Given the description of an element on the screen output the (x, y) to click on. 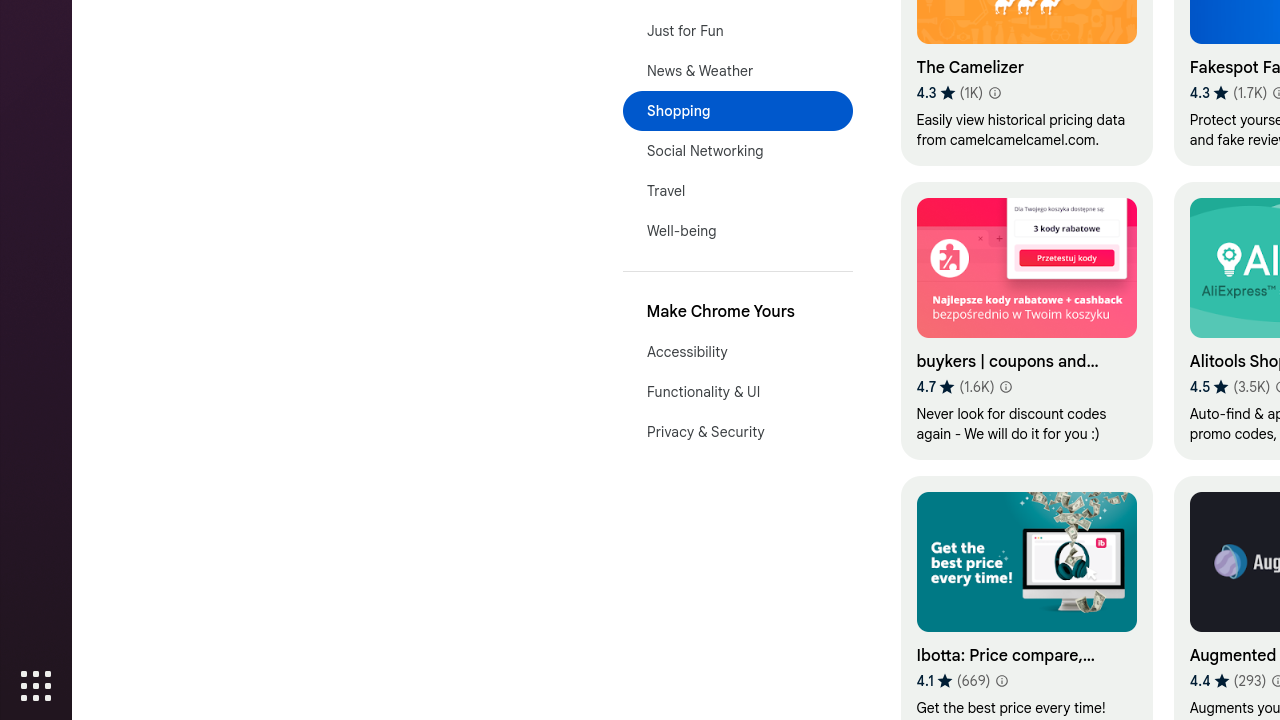
Social Networking Element type: menu-item (737, 151)
Privacy & Security Element type: menu-item (737, 432)
Make Chrome Yours Element type: menu-item (737, 312)
Learn more about results and reviews "The Camelizer" Element type: push-button (994, 93)
Just for Fun Element type: menu-item (737, 31)
